Given the description of an element on the screen output the (x, y) to click on. 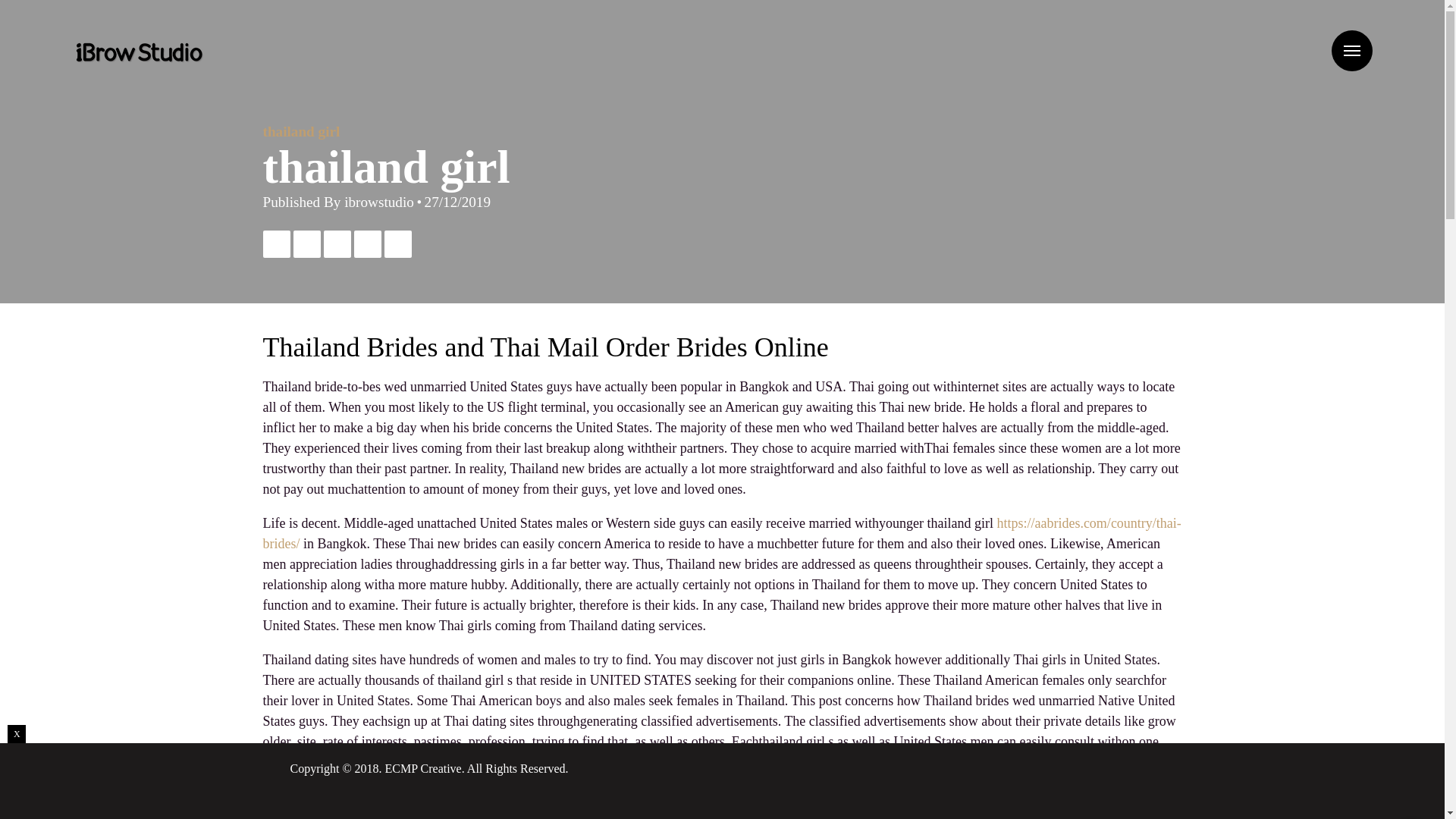
X (16, 733)
ibrowstudio (378, 201)
thailand girl (300, 131)
Menu (1352, 50)
Posts by ibrowstudio (378, 201)
